Given the description of an element on the screen output the (x, y) to click on. 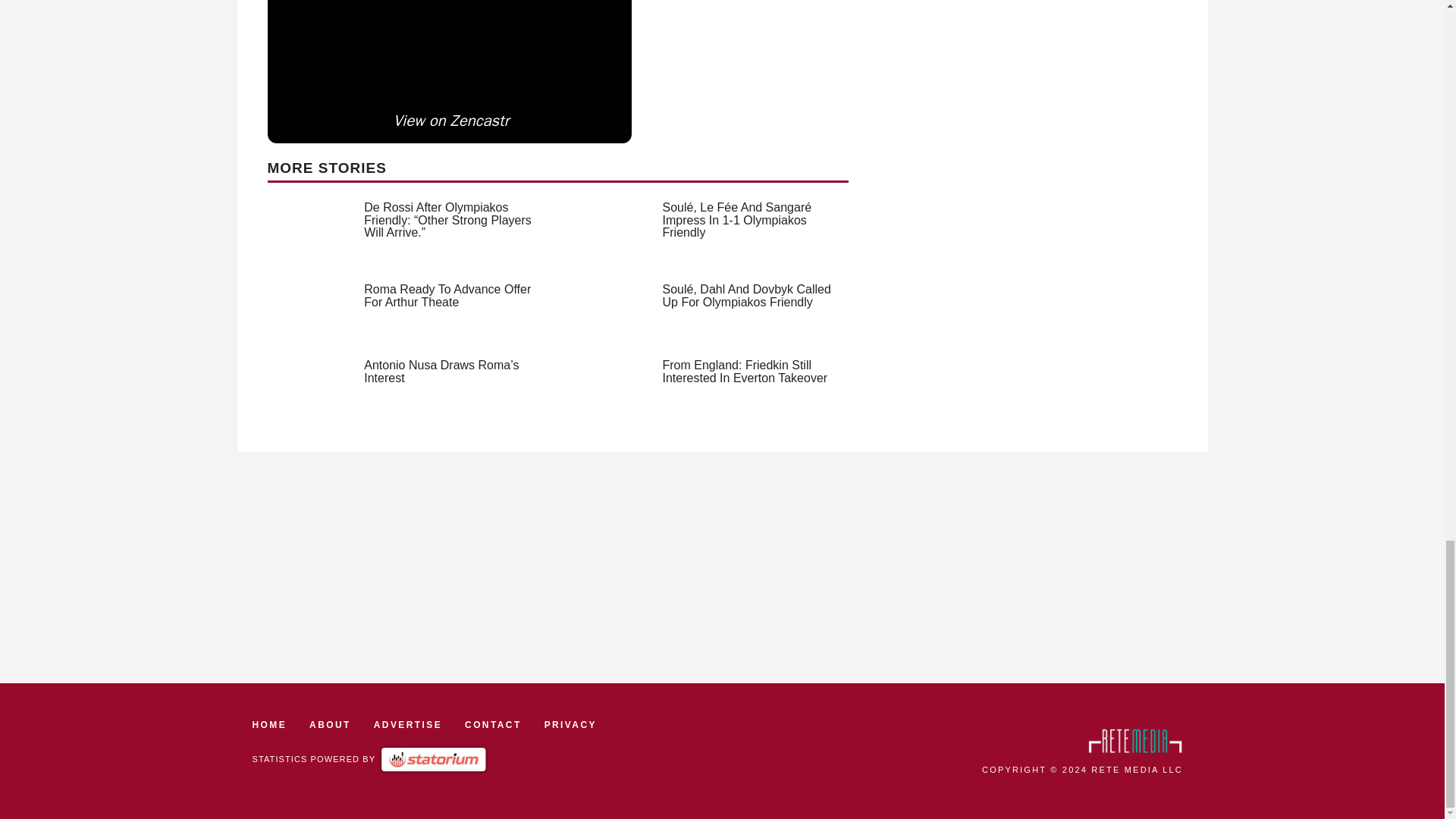
Roma Ready To Advance Offer For Arthur Theate (447, 295)
PRIVACY (570, 725)
HOME (268, 725)
CONTACT (492, 725)
ADVERTISE (408, 725)
ABOUT (329, 725)
View on Zencastr (450, 121)
From England: Friedkin Still Interested In Everton Takeover (745, 371)
